Given the description of an element on the screen output the (x, y) to click on. 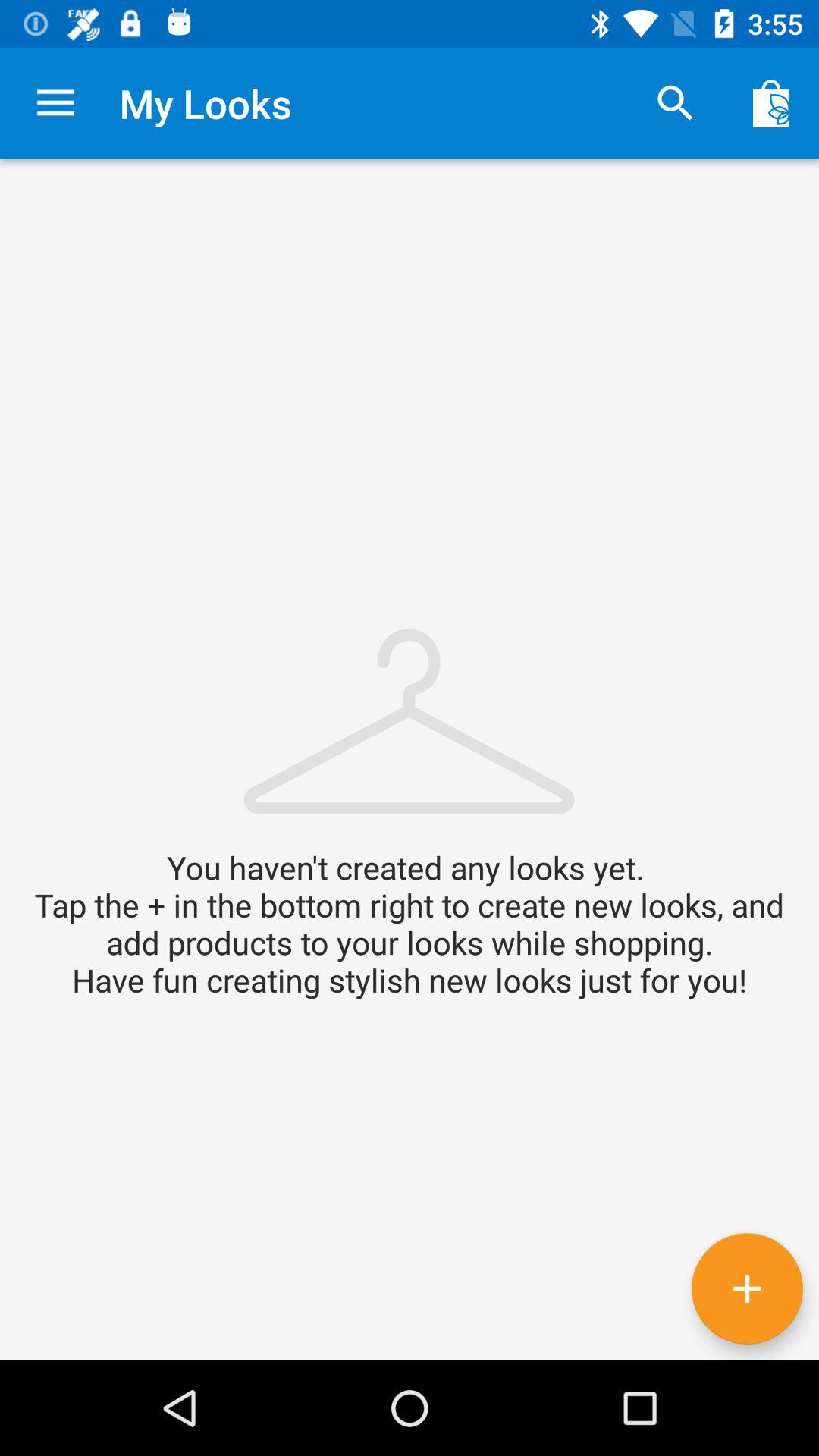
turn off the icon at the bottom right corner (747, 1288)
